Given the description of an element on the screen output the (x, y) to click on. 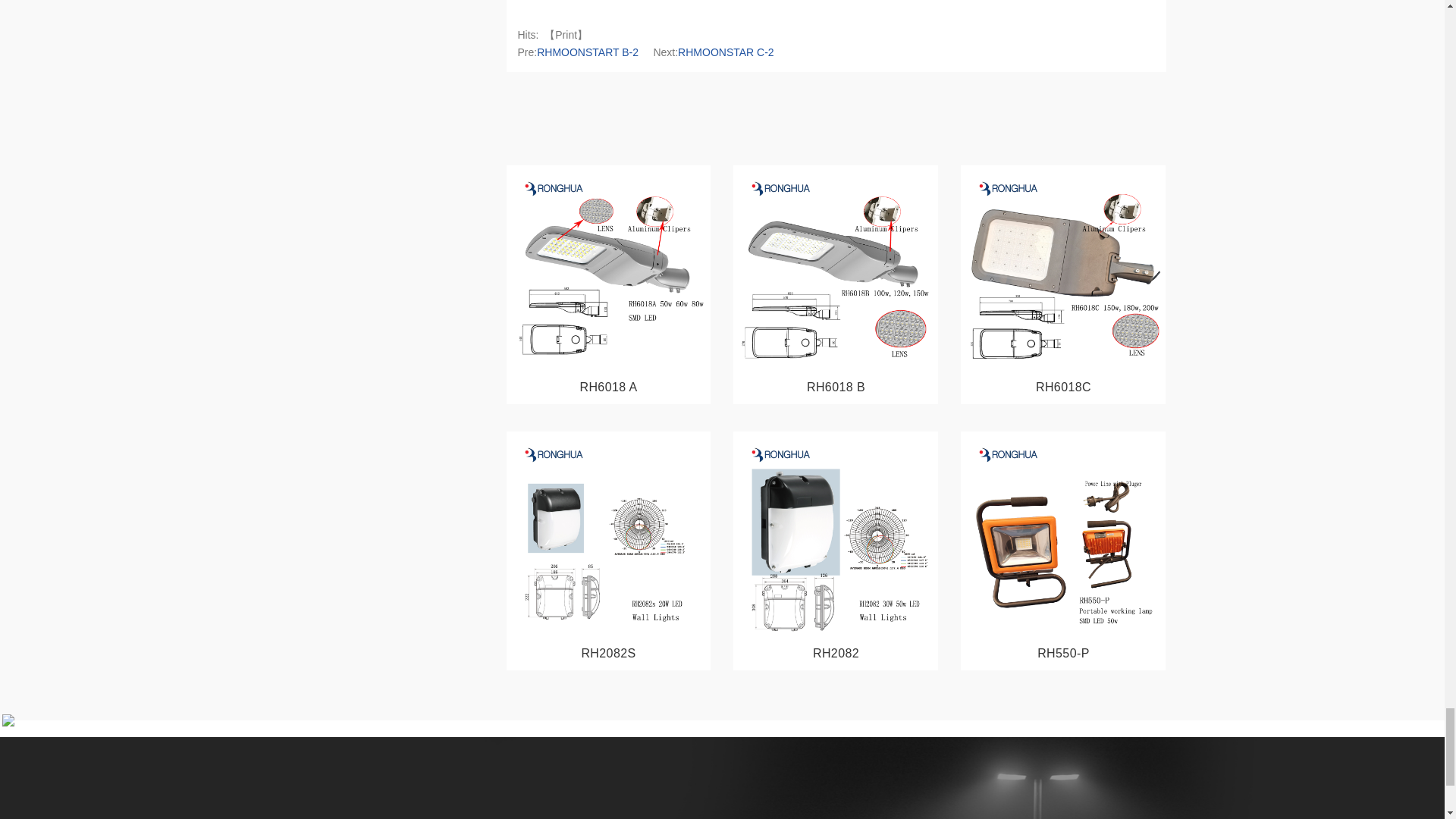
RHMOONSTART B-2 (588, 51)
RH6018C (1062, 386)
Print (565, 34)
RHMOONSTAR C-2 (726, 51)
RH6018 B (835, 386)
RH6018 A (608, 386)
